Given the description of an element on the screen output the (x, y) to click on. 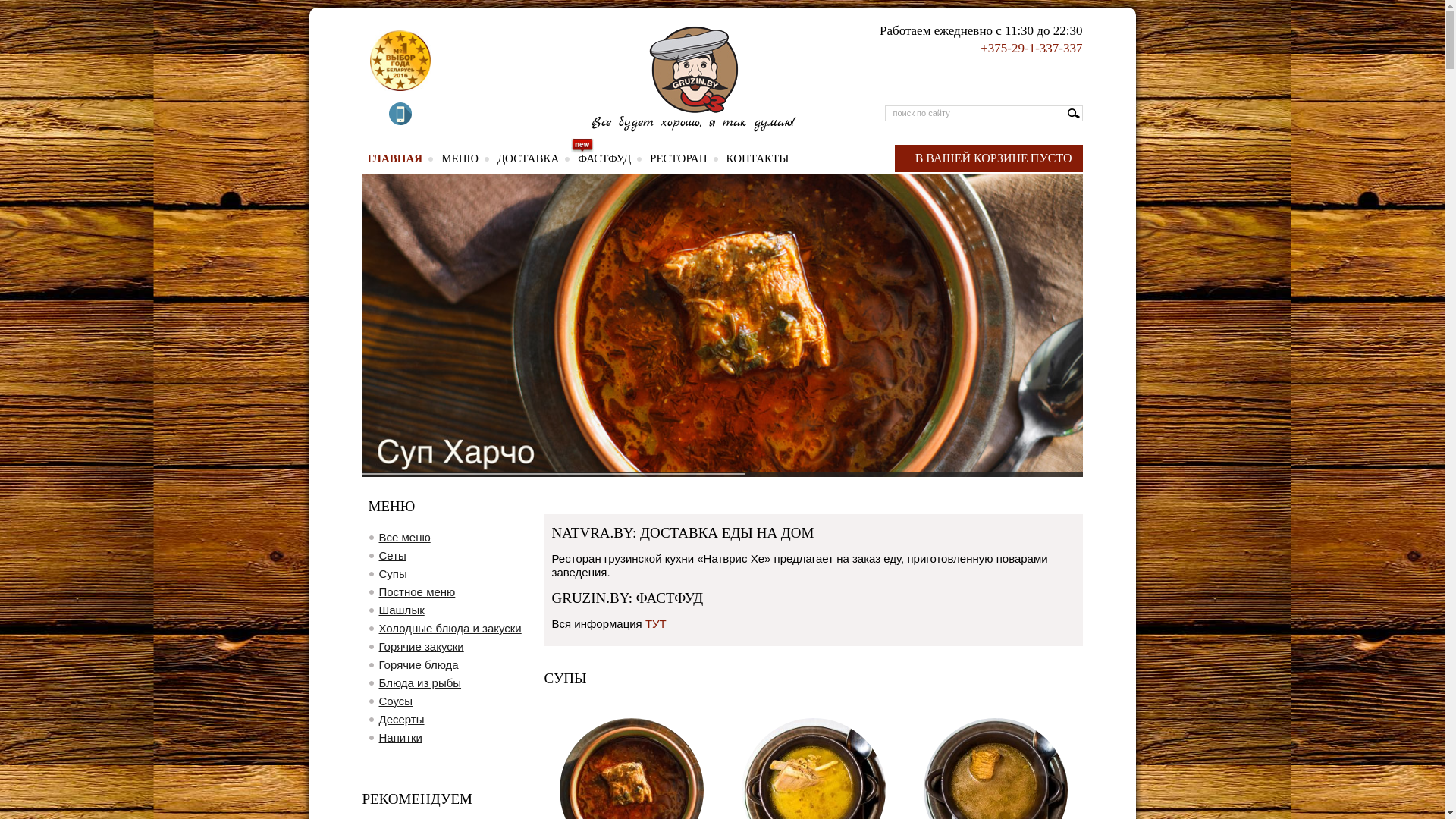
+375-29-1-337-337 Element type: text (1031, 47)
